Given the description of an element on the screen output the (x, y) to click on. 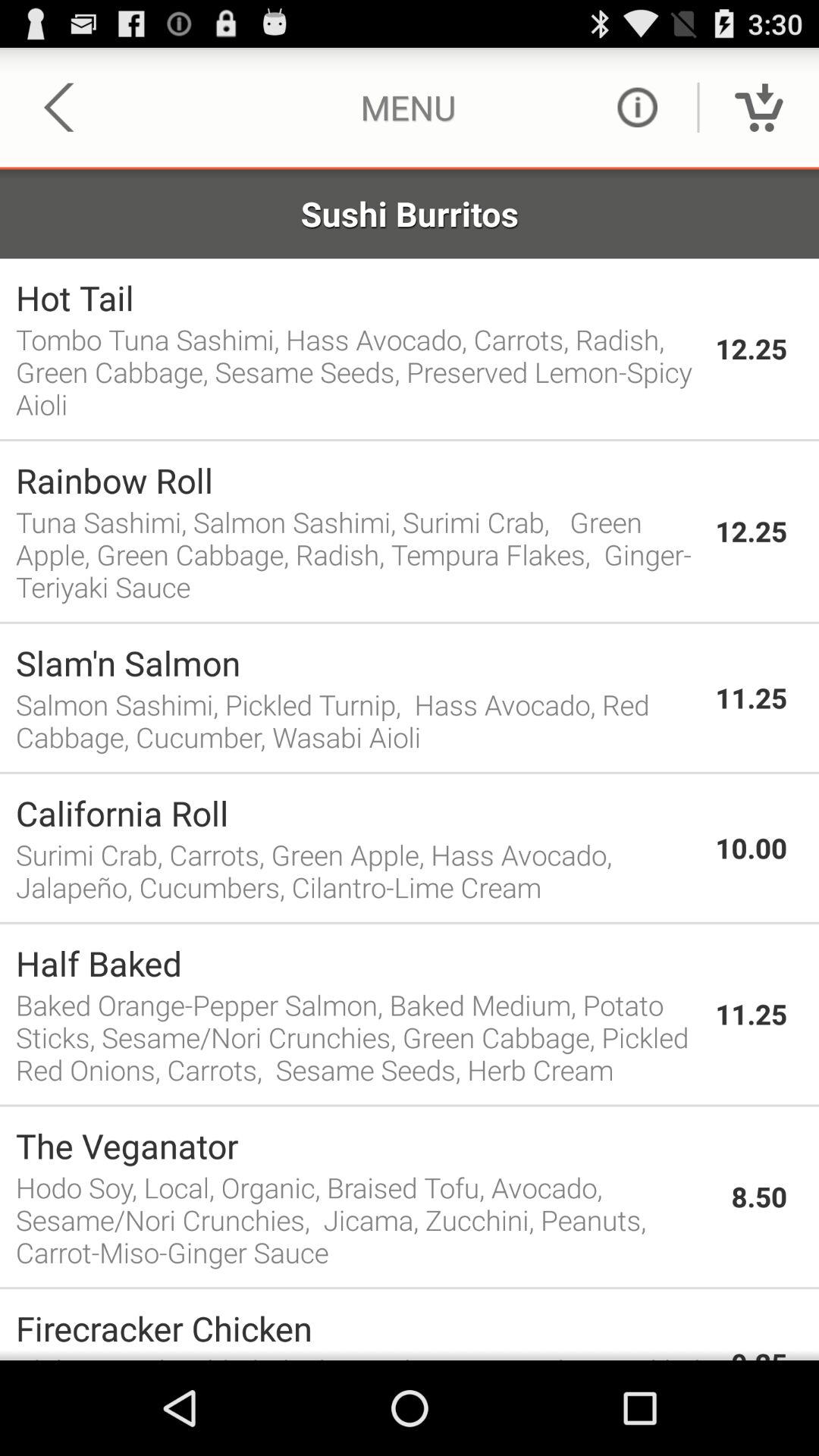
launch item next to the the veganator item (759, 1196)
